Given the description of an element on the screen output the (x, y) to click on. 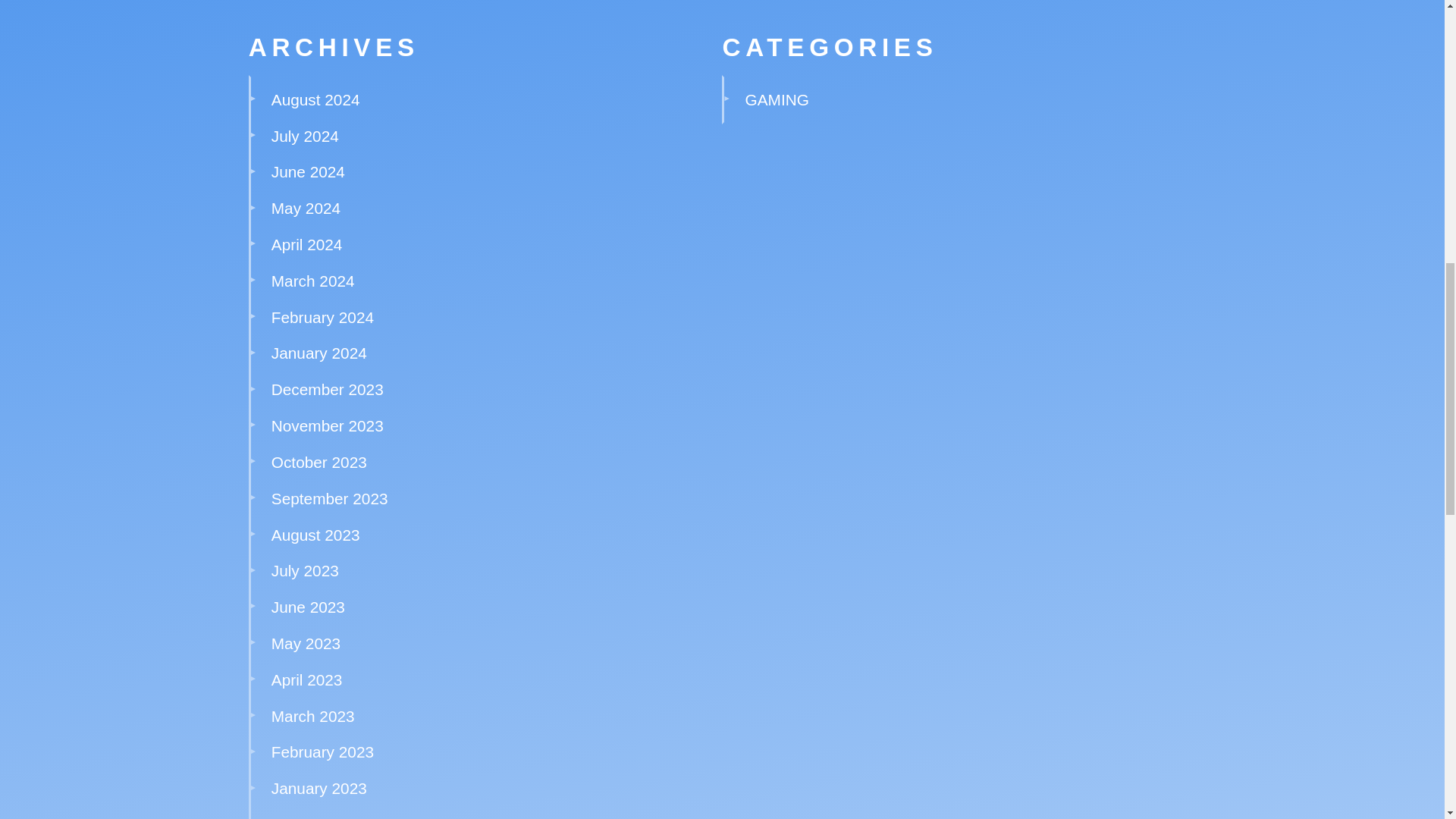
November 2023 (327, 425)
January 2023 (318, 787)
October 2023 (318, 461)
August 2023 (314, 534)
GAMING (777, 99)
July 2024 (304, 135)
December 2023 (327, 389)
January 2024 (318, 352)
May 2023 (305, 642)
April 2024 (306, 244)
